Given the description of an element on the screen output the (x, y) to click on. 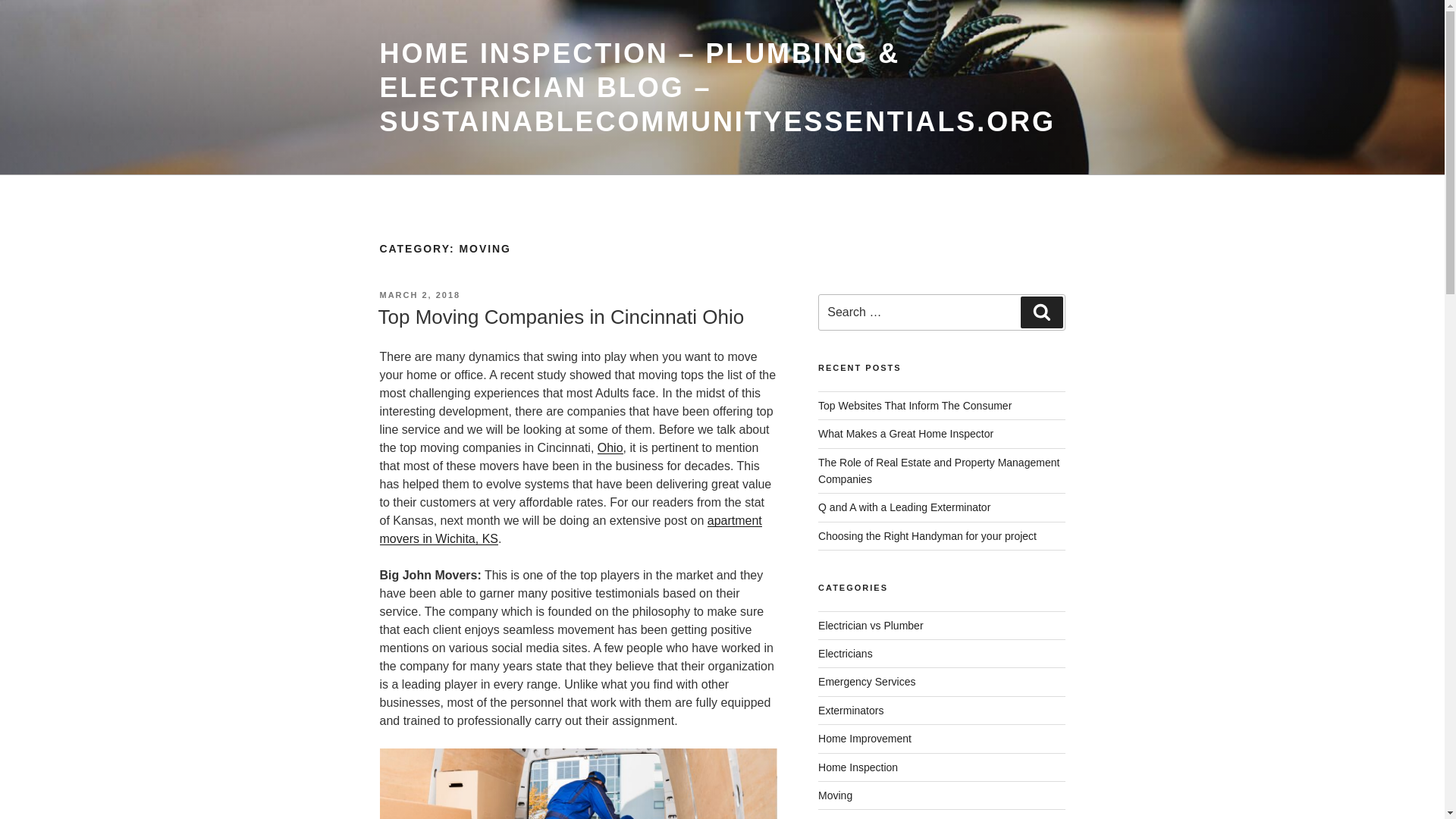
The Role of Real Estate and Property Management Companies (938, 470)
Exterminators (850, 710)
Electrician vs Plumber (870, 625)
Search (1041, 312)
Plumber Near Me (859, 818)
Top Websites That Inform The Consumer (914, 405)
Home Improvement (864, 738)
Emergency Services (866, 681)
MARCH 2, 2018 (419, 294)
Moving (834, 795)
Top Moving Companies in Cincinnati Ohio (560, 316)
Electricians (845, 653)
Ohio (609, 447)
What Makes a Great Home Inspector (905, 433)
apartment movers in Wichita, KS (569, 529)
